Given the description of an element on the screen output the (x, y) to click on. 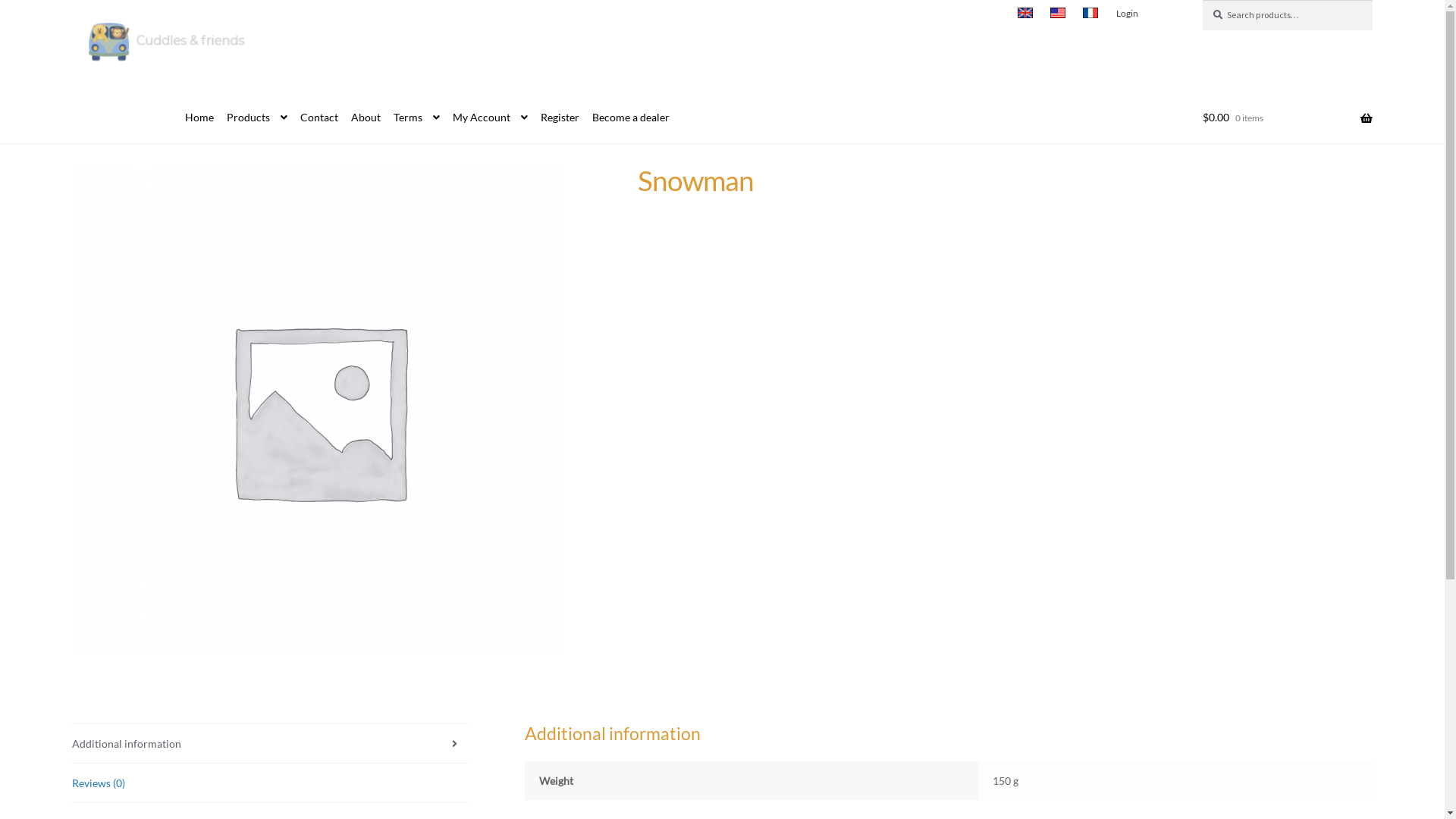
Additional information Element type: text (269, 743)
Reviews (0) Element type: text (269, 782)
About Element type: text (360, 117)
Register Element type: text (554, 117)
$0.00 0 items Element type: text (1287, 118)
Login Element type: text (1126, 14)
Contact Element type: text (313, 117)
My Account Element type: text (484, 117)
Products Element type: text (251, 117)
Terms Element type: text (410, 117)
Home Element type: text (193, 117)
Become a dealer Element type: text (625, 117)
